Given the description of an element on the screen output the (x, y) to click on. 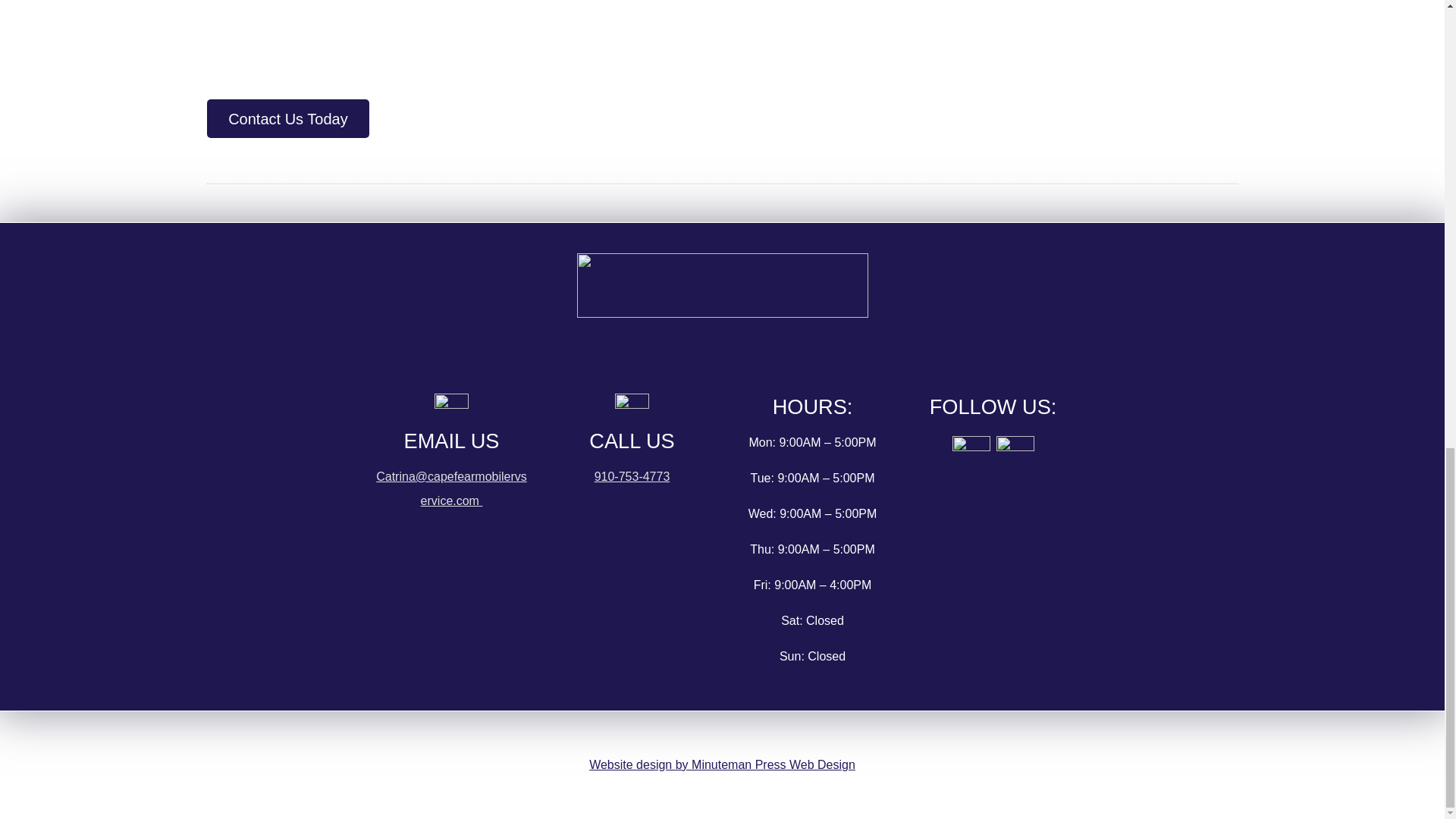
Website design by Minuteman Press Web Design (722, 764)
Contact Us Today (287, 118)
910-753-4773 (631, 476)
